Given the description of an element on the screen output the (x, y) to click on. 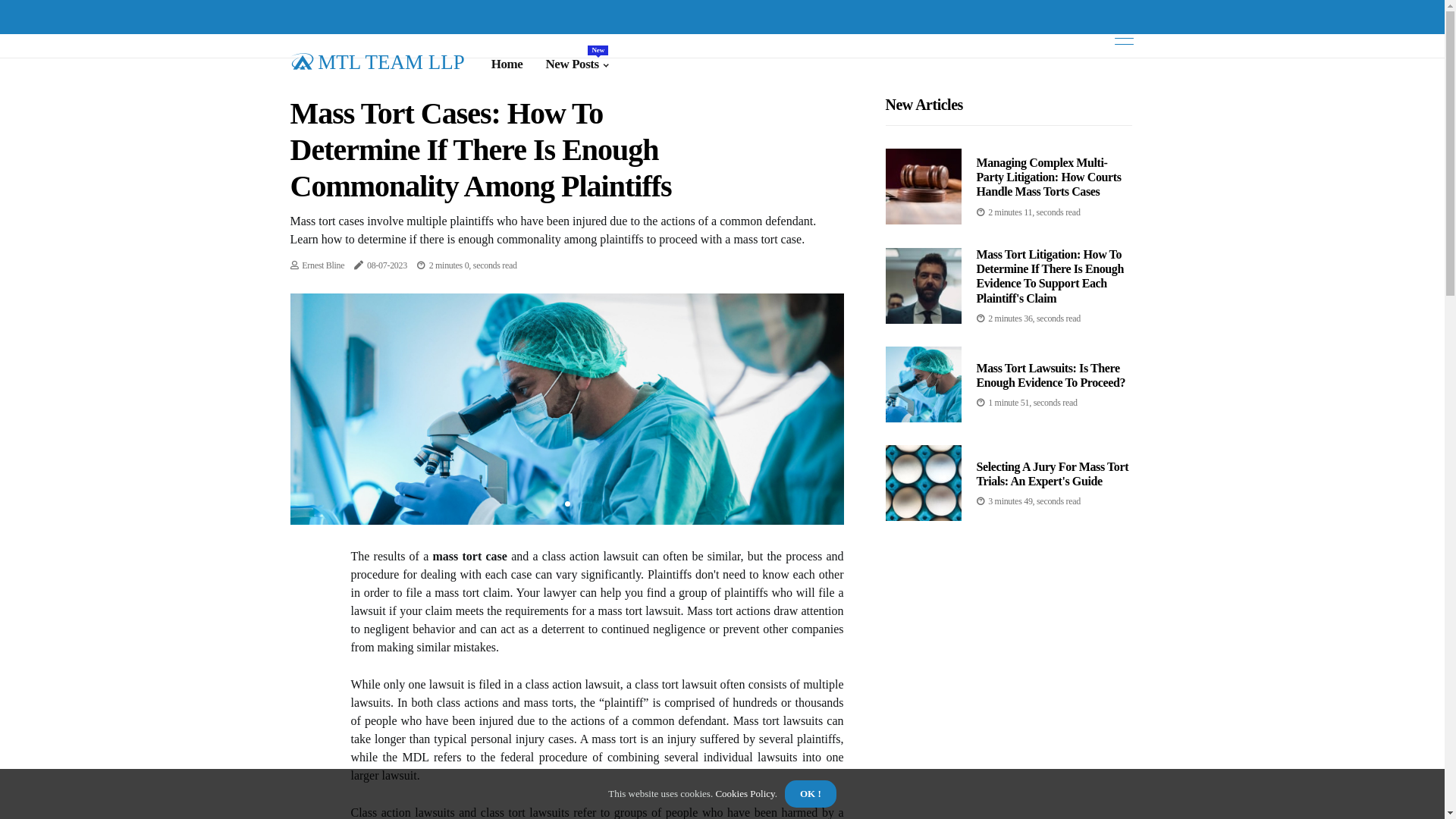
New Posts
New Element type: text (576, 64)
Selecting A Jury For Mass Tort Trials: An Expert'S Guide Element type: text (1052, 473)
Mass Tort Lawsuits: Is There Enough Evidence To Proceed? Element type: text (1051, 375)
Home Element type: text (507, 64)
1 Element type: text (566, 503)
MTL TEAM LLP Element type: text (376, 60)
Cookies Policy Element type: text (743, 793)
Ernest Bline Element type: text (322, 265)
